Given the description of an element on the screen output the (x, y) to click on. 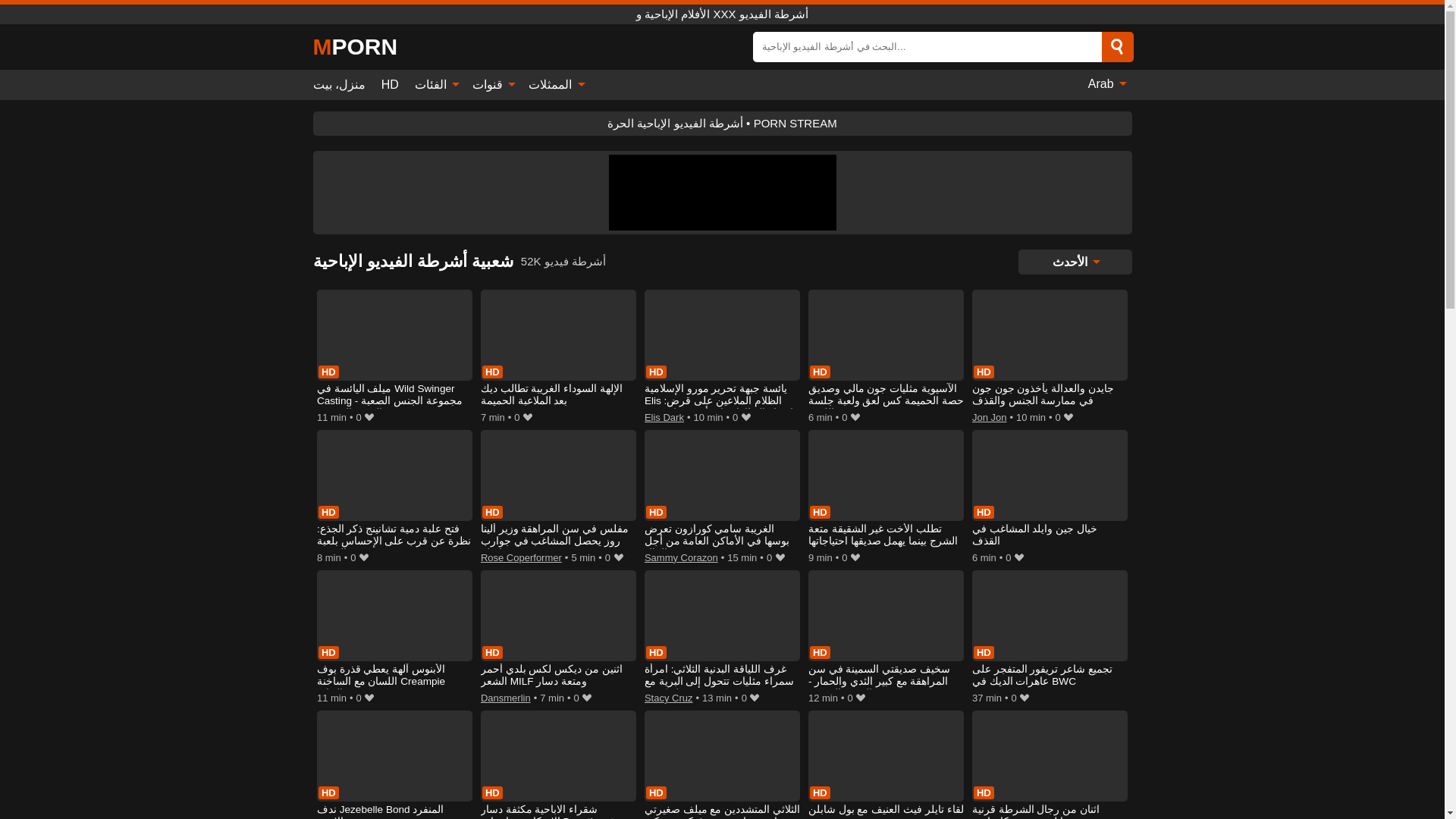
Arab (1105, 84)
Search (1116, 46)
HD (389, 84)
HD (389, 84)
MPORN (355, 46)
